Given the description of an element on the screen output the (x, y) to click on. 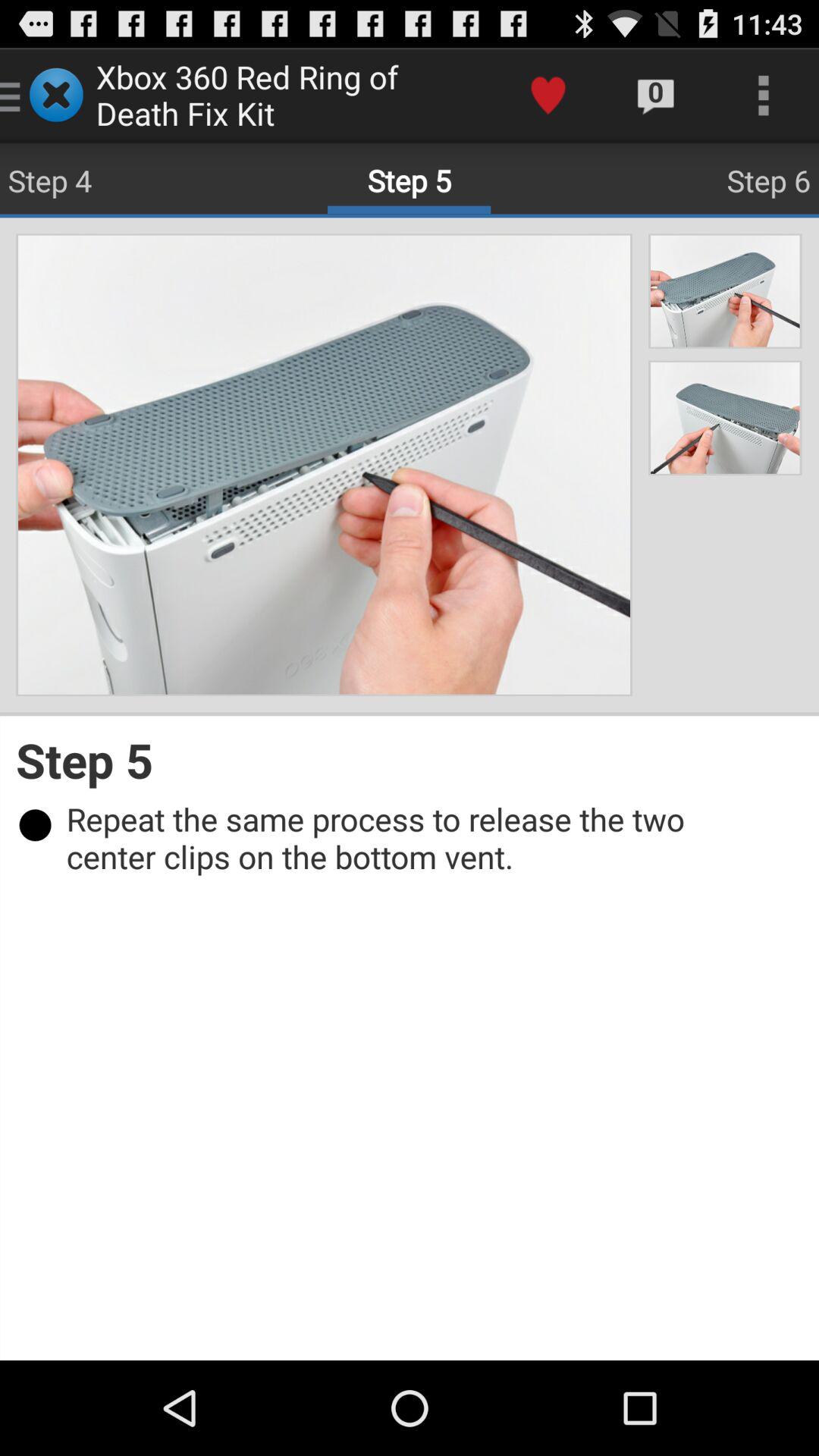
open repeat the same icon (417, 837)
